Given the description of an element on the screen output the (x, y) to click on. 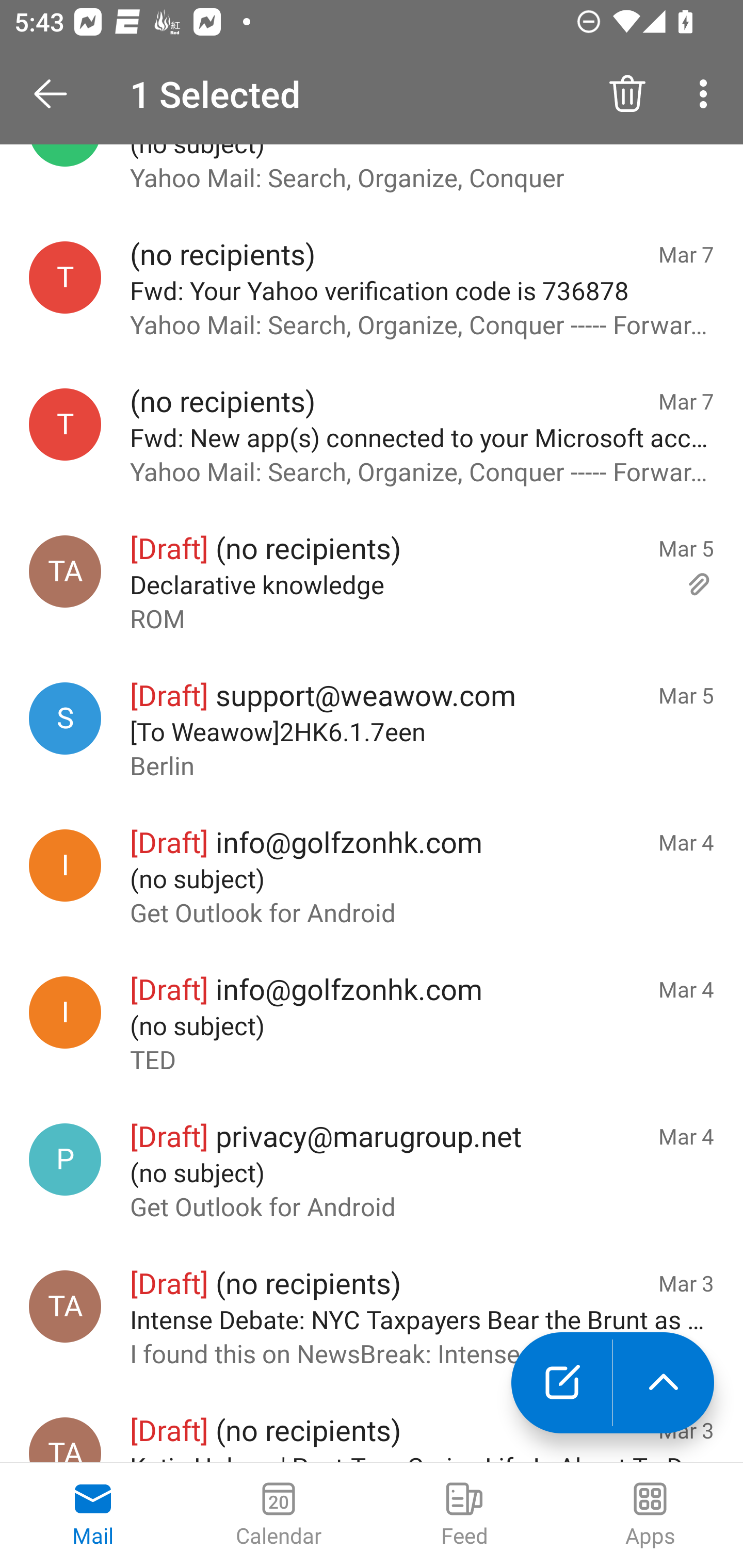
Delete (626, 93)
More options (706, 93)
Open Navigation Drawer (57, 94)
testappium002@outlook.com (64, 277)
testappium002@outlook.com (64, 424)
Test Appium, testappium002@outlook.com (64, 571)
support@weawow.com (64, 718)
info@golfzonhk.com (64, 865)
info@golfzonhk.com (64, 1012)
privacy@marugroup.net (64, 1158)
Test Appium, testappium002@outlook.com (64, 1306)
New mail (561, 1382)
launch the extended action menu (663, 1382)
Calendar (278, 1515)
Feed (464, 1515)
Apps (650, 1515)
